Given the description of an element on the screen output the (x, y) to click on. 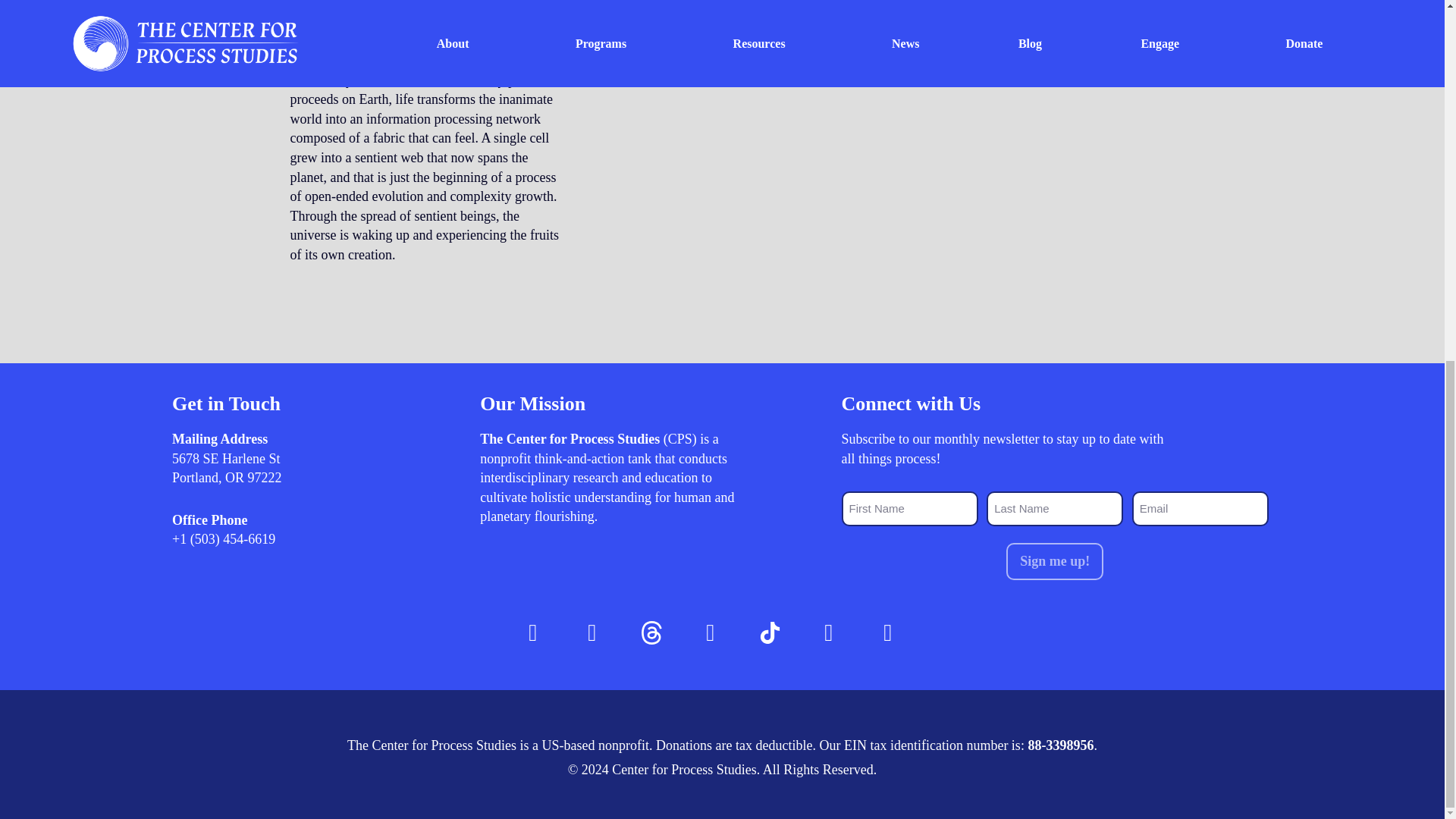
Sign me up! (1054, 560)
